Given the description of an element on the screen output the (x, y) to click on. 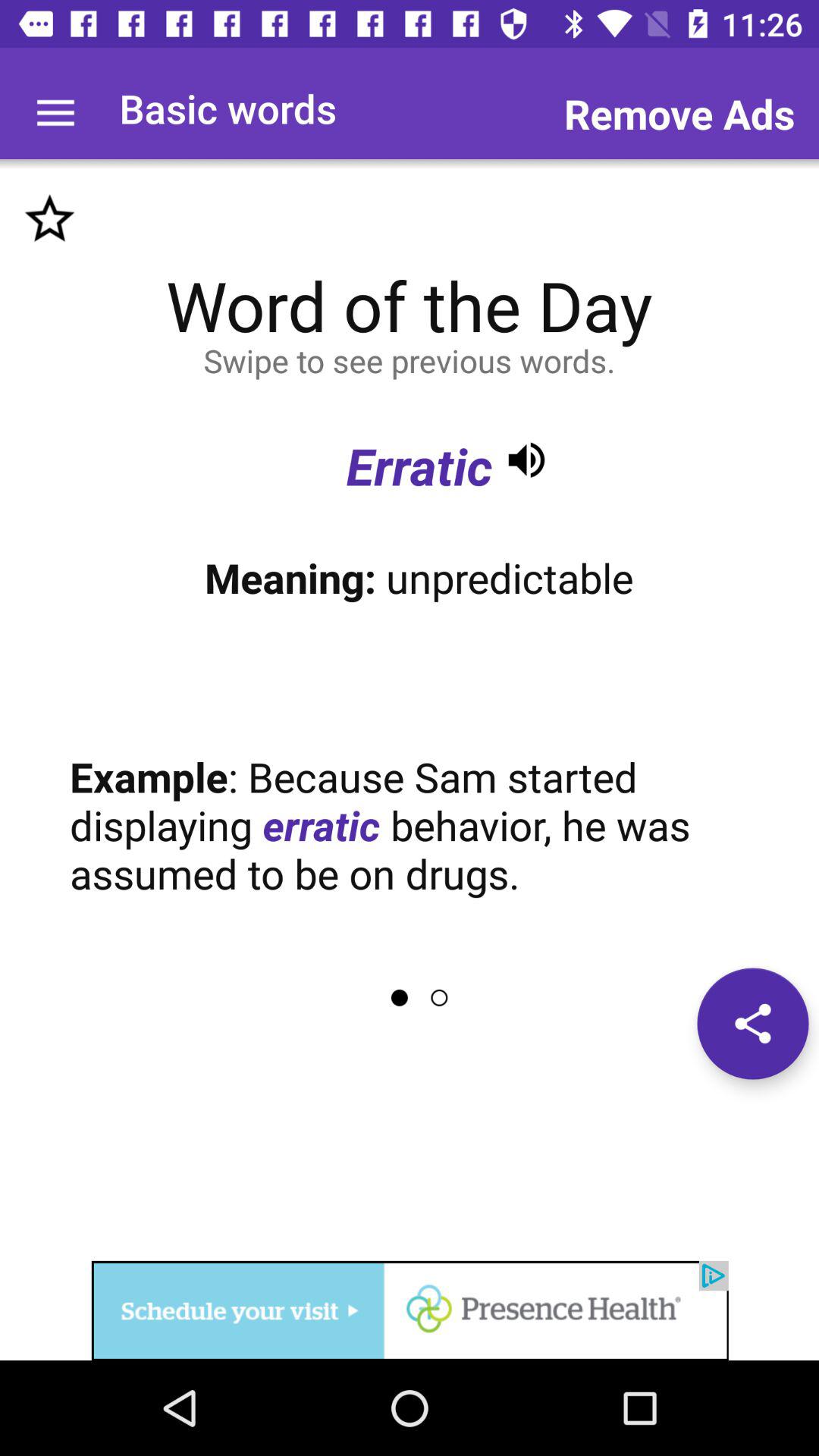
go to advertisement (409, 1310)
